Given the description of an element on the screen output the (x, y) to click on. 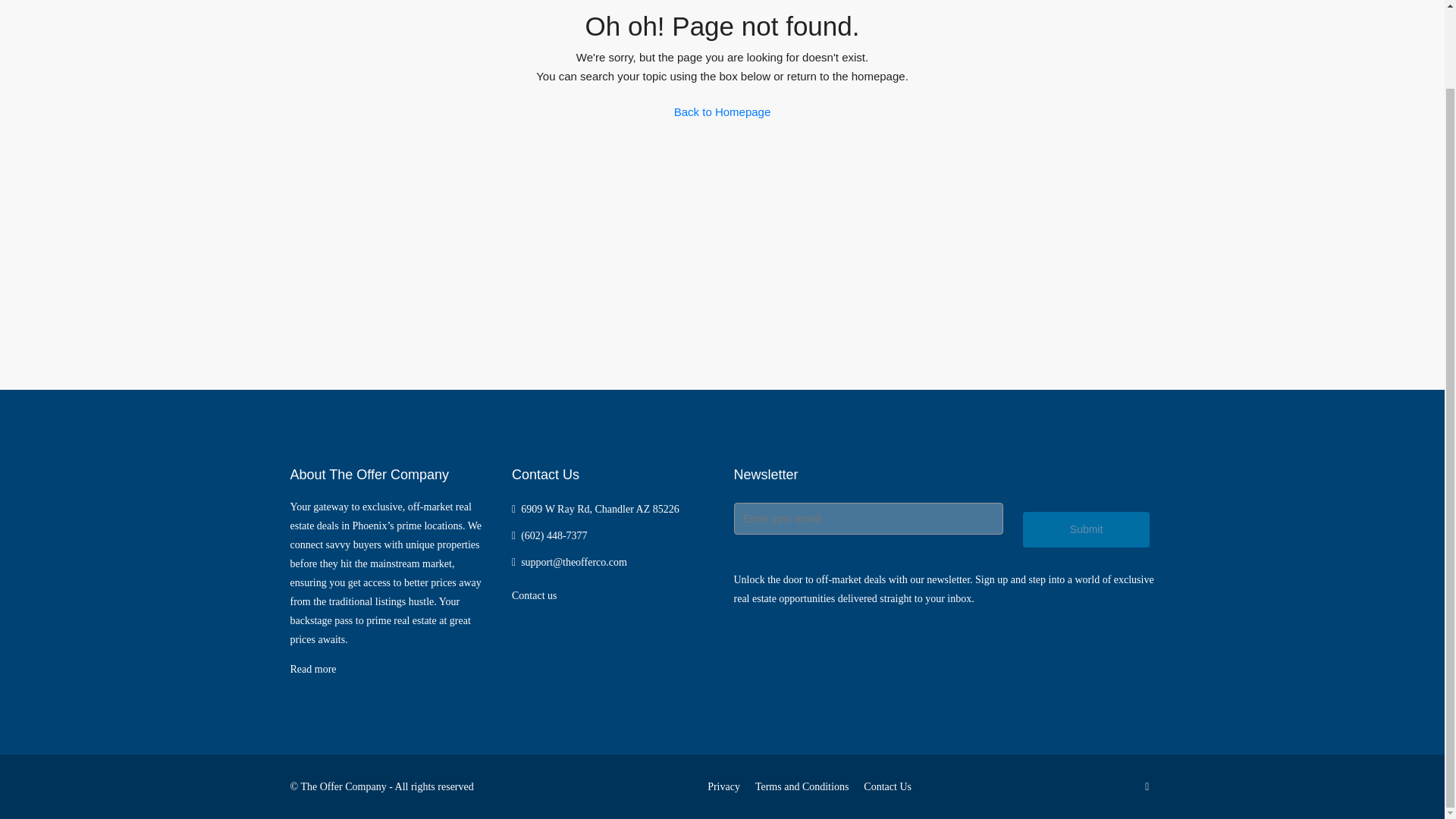
Privacy (723, 786)
Contact us (534, 595)
Submit (1086, 529)
Read more (312, 668)
Back to Homepage (722, 111)
